Given the description of an element on the screen output the (x, y) to click on. 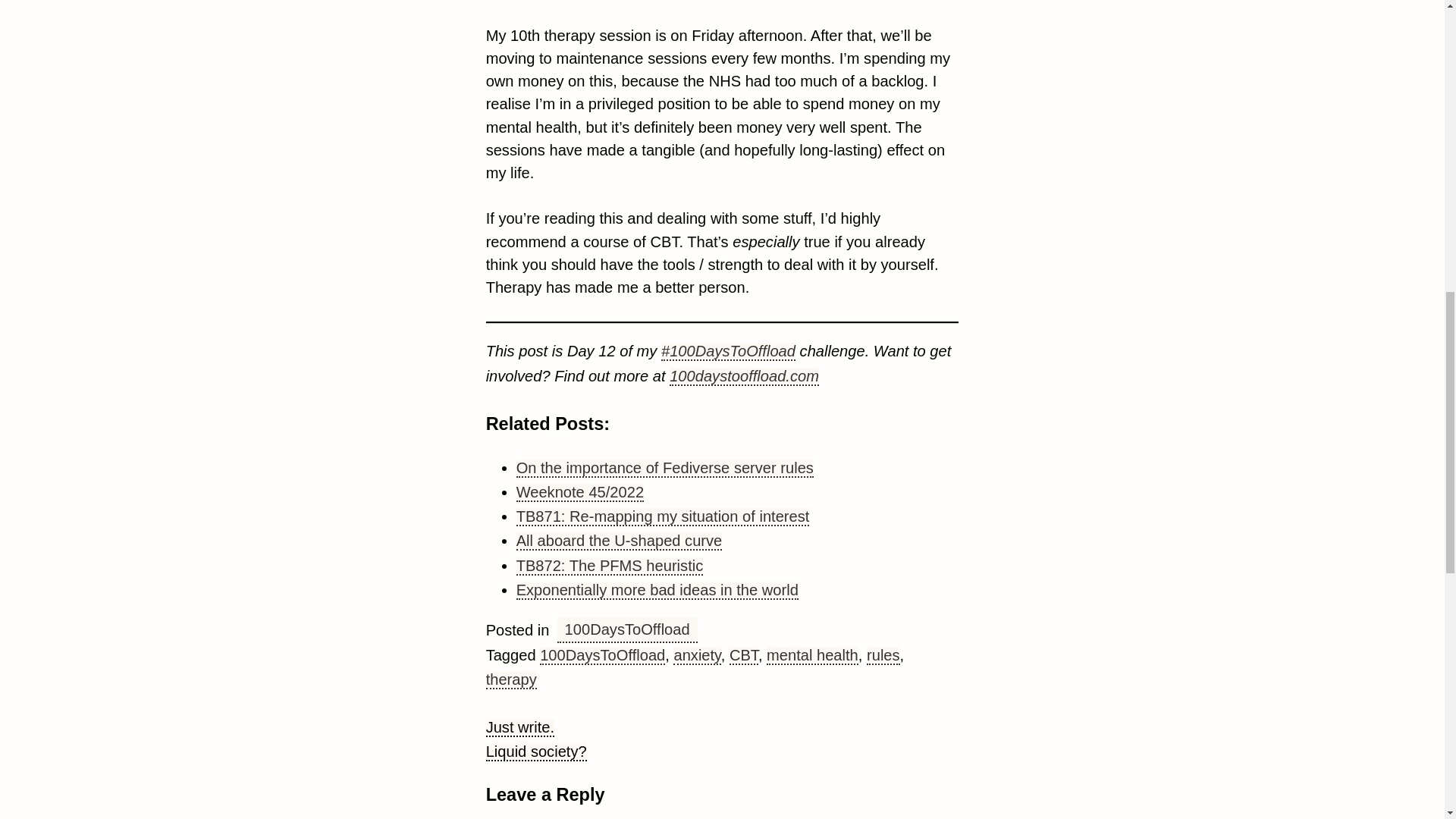
therapy (511, 679)
Liquid society? (536, 751)
On the importance of Fediverse server rules (664, 468)
anxiety (696, 656)
100daystooffload.com (743, 376)
100DaysToOffload (627, 629)
Just write. (520, 728)
All aboard the U-shaped curve (619, 541)
TB871: Re-mapping my situation of interest (662, 516)
TB872: The PFMS heuristic (609, 566)
mental health (813, 656)
CBT (743, 656)
100DaysToOffload (602, 656)
Exponentially more bad ideas in the world (656, 590)
rules (882, 656)
